Given the description of an element on the screen output the (x, y) to click on. 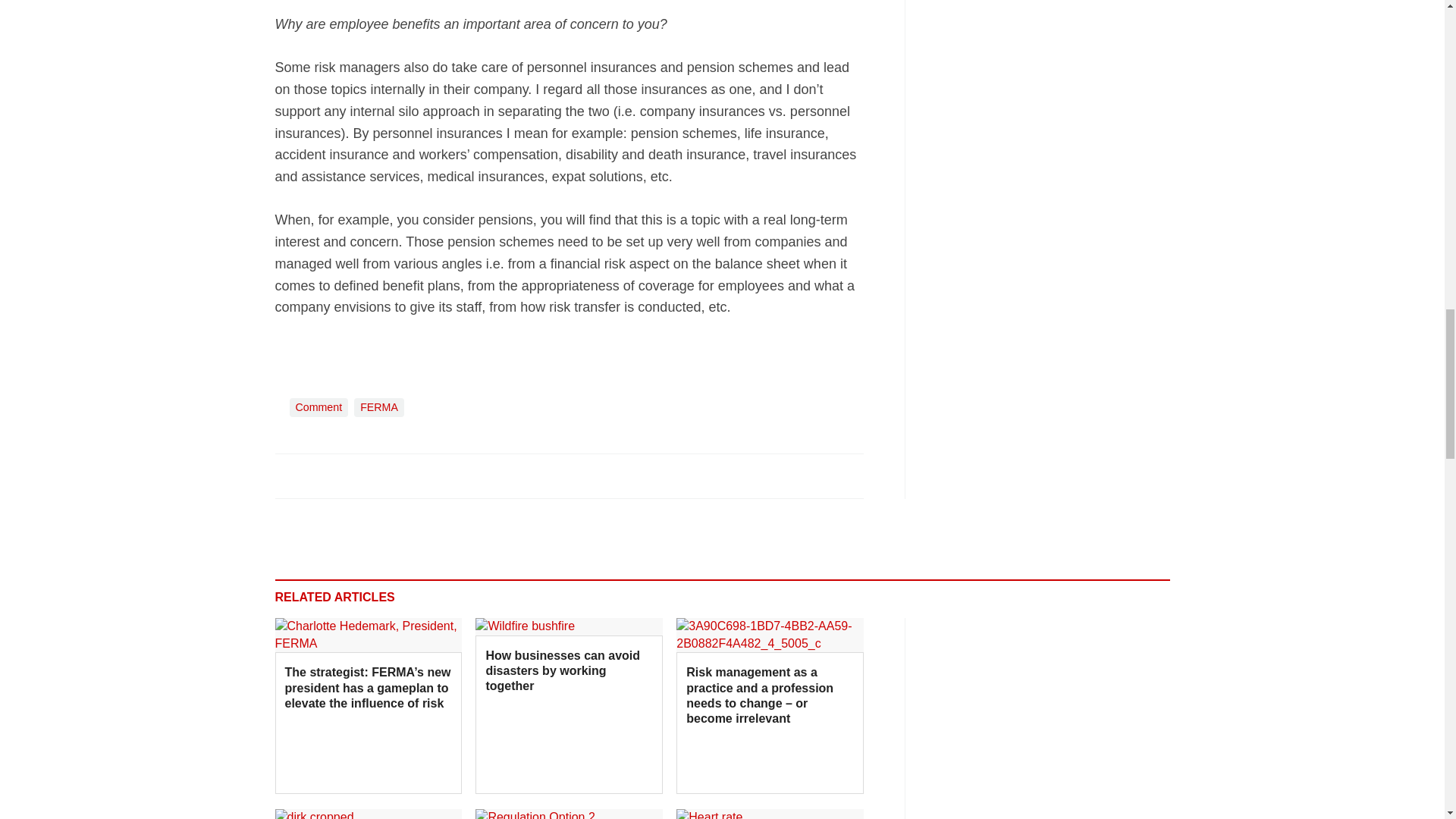
Share this on Facebook (288, 474)
No comments (840, 484)
Share this on Linked in (352, 474)
Email this article (386, 474)
Share this on Twitter (320, 474)
